Given the description of an element on the screen output the (x, y) to click on. 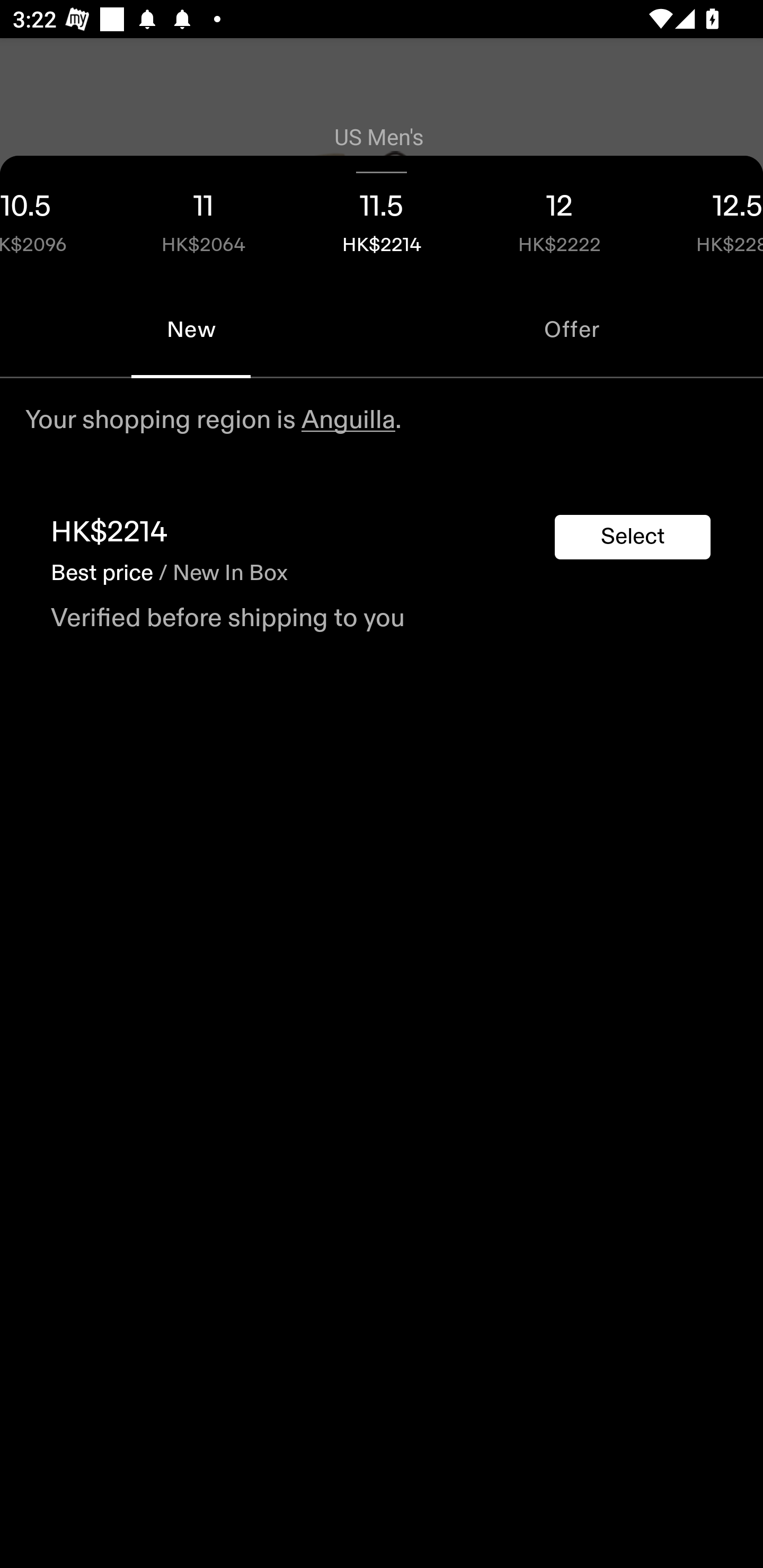
10.5 HK$2096 (57, 218)
11 HK$2064 (203, 218)
11.5 HK$2214 (381, 218)
12 HK$2222 (559, 218)
12.5 HK$2286 (705, 218)
Offer (572, 329)
Select (632, 536)
